Given the description of an element on the screen output the (x, y) to click on. 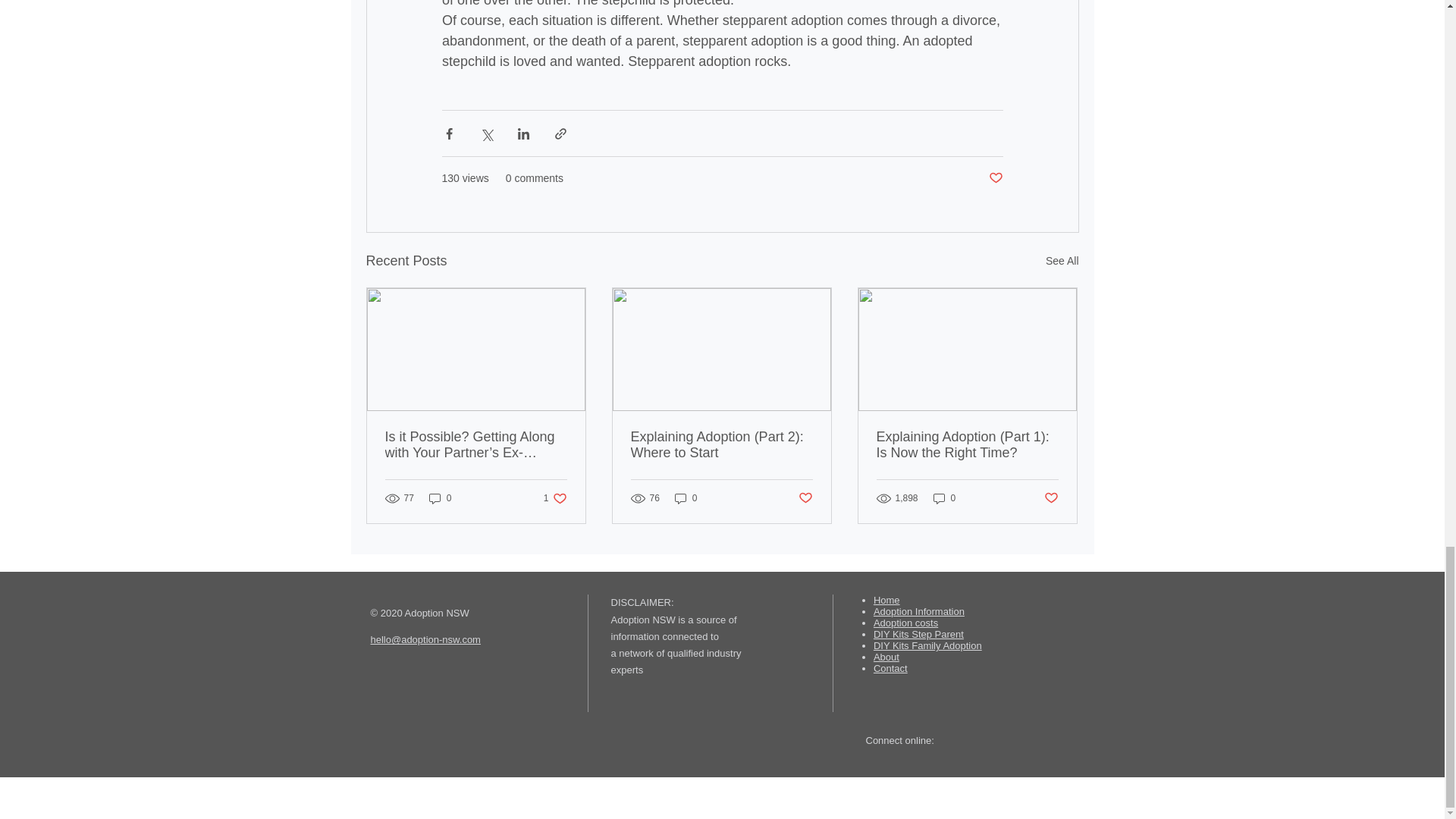
Post not marked as liked (804, 498)
See All (1061, 260)
0 (440, 498)
Post not marked as liked (555, 498)
Post not marked as liked (995, 178)
0 (1050, 498)
0 (685, 498)
